Given the description of an element on the screen output the (x, y) to click on. 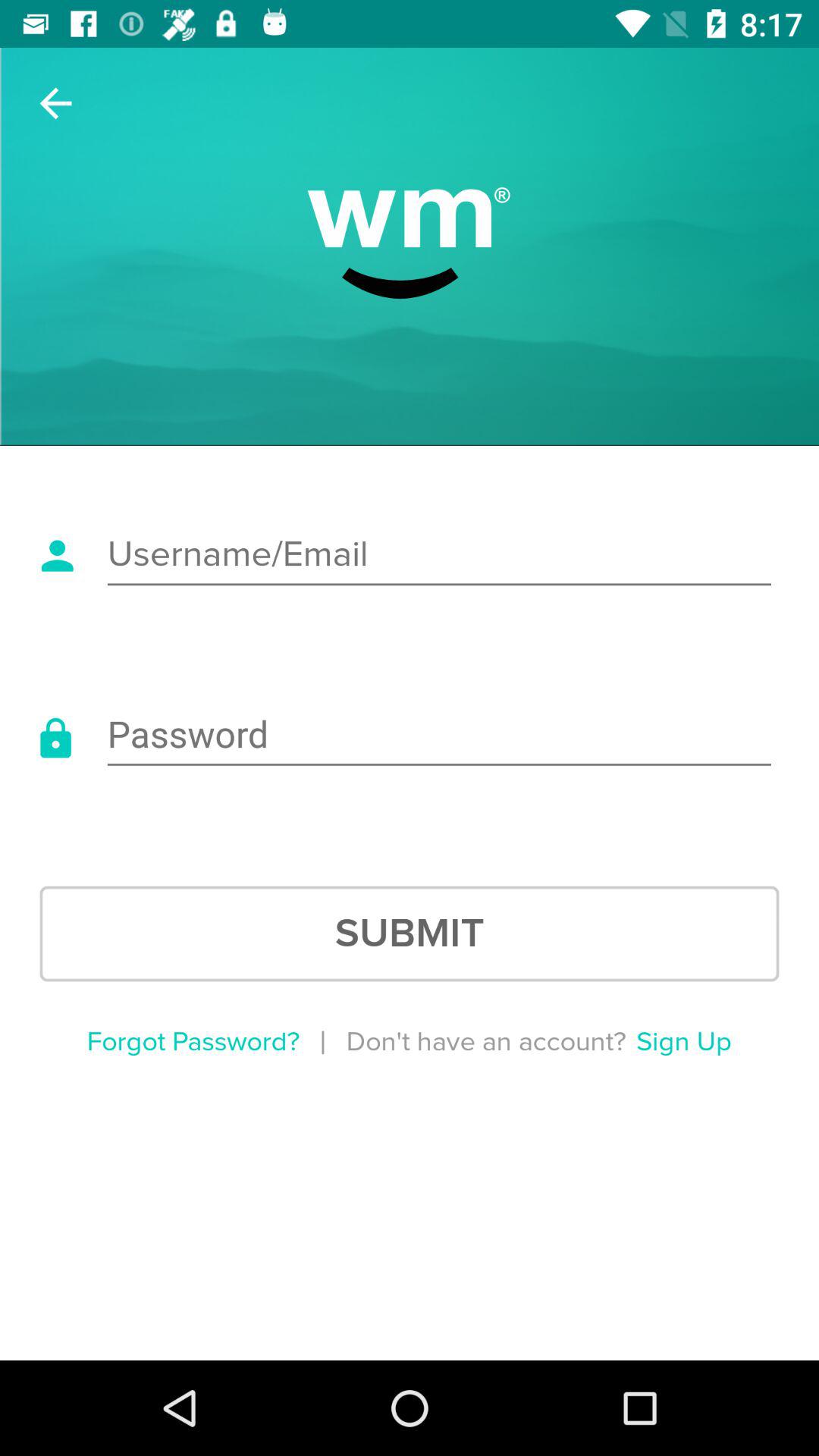
choose item at the top left corner (55, 103)
